Given the description of an element on the screen output the (x, y) to click on. 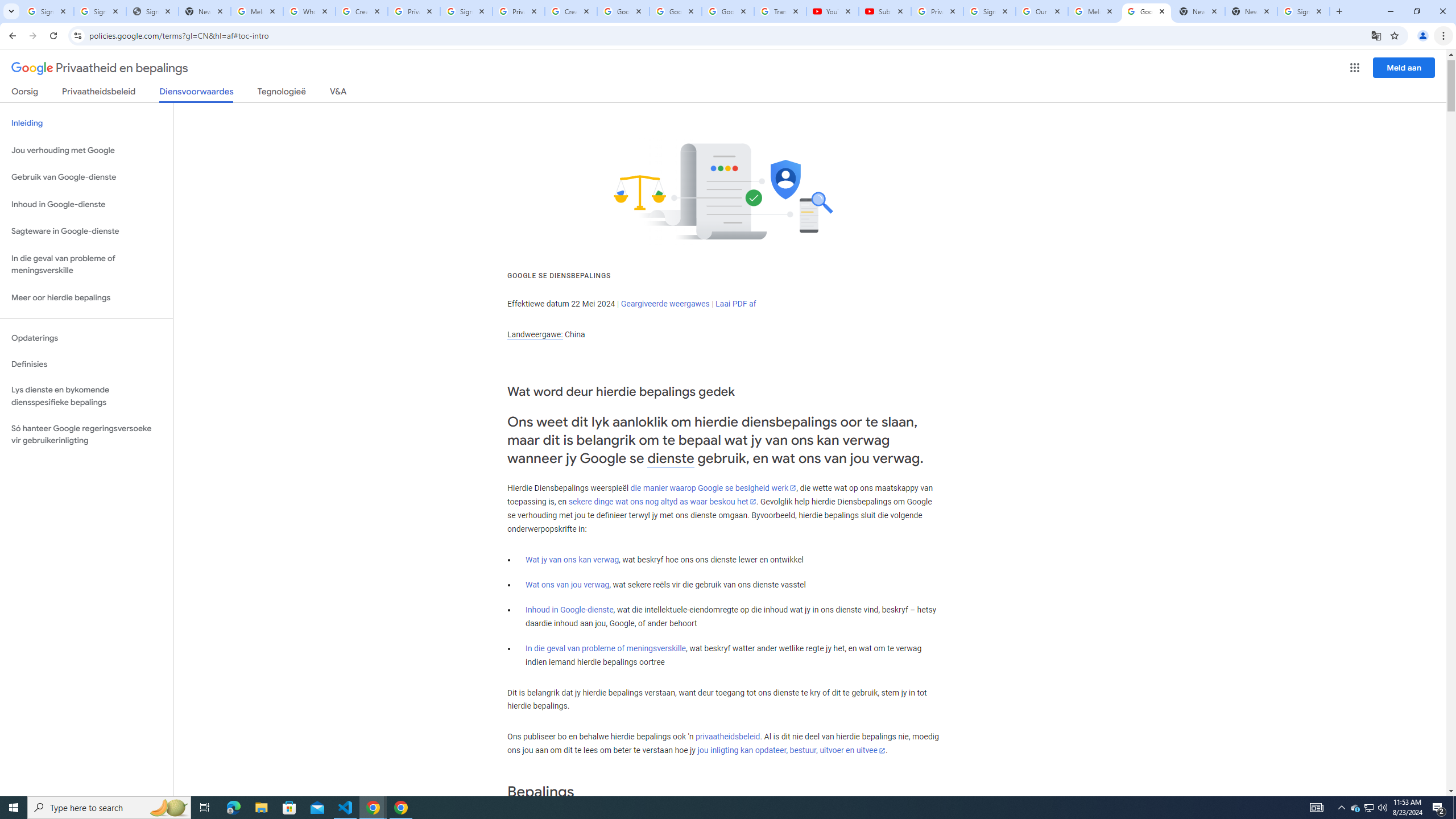
privaatheidsbeleid (727, 737)
die manier waarop Google se besigheid werk (713, 488)
Subscriptions - YouTube (884, 11)
Gebruik van Google-dienste (86, 176)
Privaatheid en bepalings (99, 68)
